Given the description of an element on the screen output the (x, y) to click on. 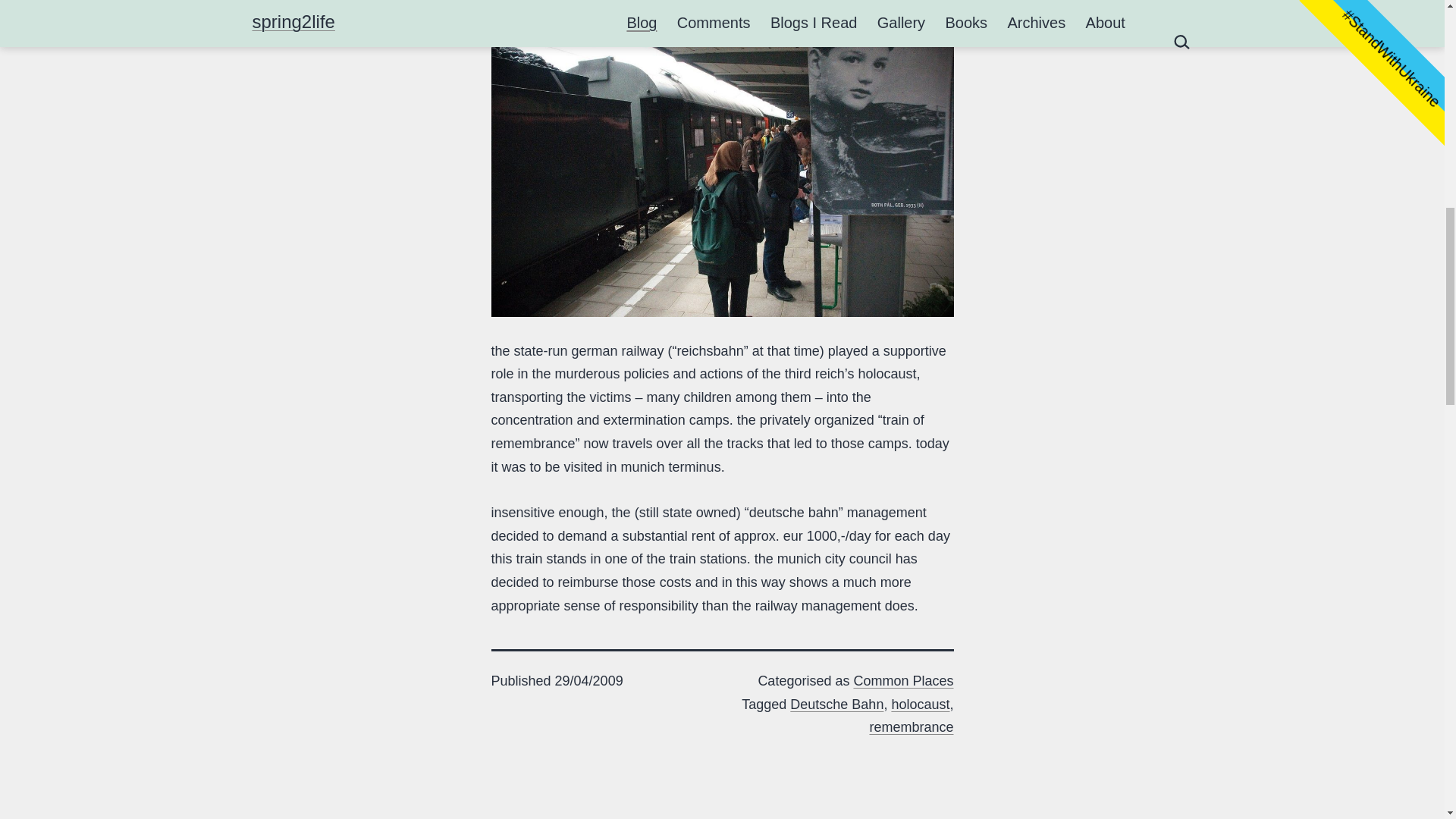
Common Places (903, 680)
holocaust (920, 703)
Deutsche Bahn (836, 703)
remembrance (911, 726)
